Given the description of an element on the screen output the (x, y) to click on. 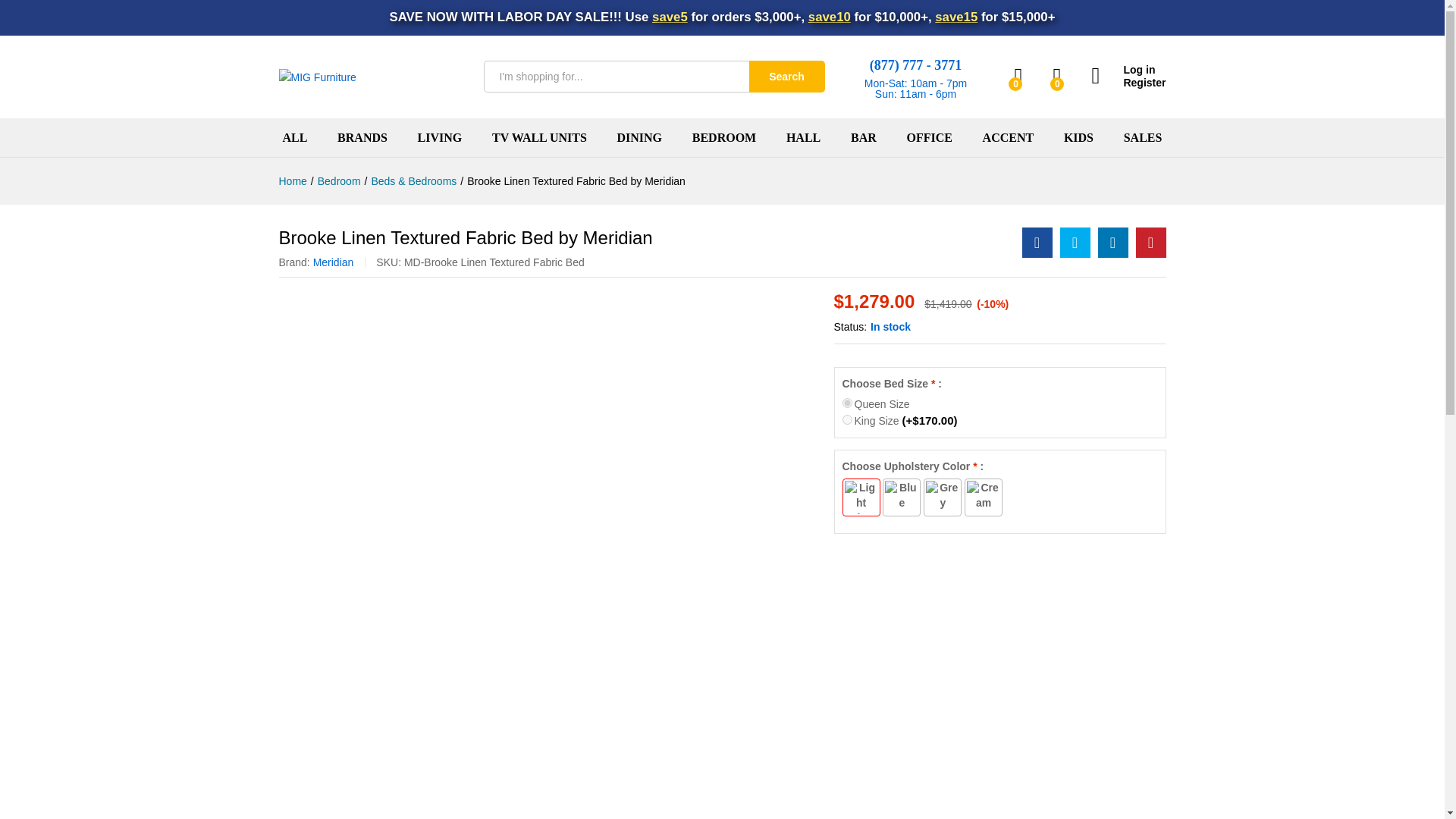
Bedroom Furniture (724, 137)
King Size (846, 419)
Hallway Furniture (803, 137)
Register (1128, 82)
BRANDS (362, 137)
Accent Furniture (1007, 137)
Search (787, 76)
Office Furniture (928, 137)
ALL (294, 137)
Dining Room Furniture (639, 137)
